Given the description of an element on the screen output the (x, y) to click on. 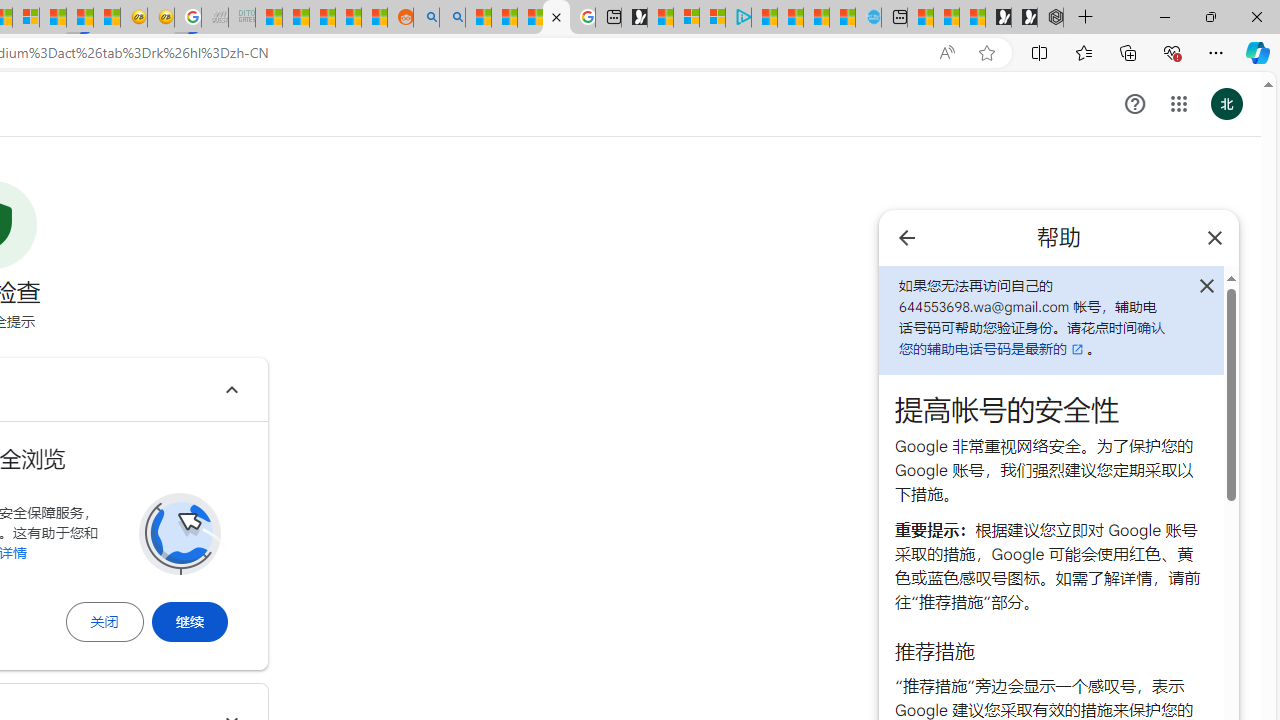
Class: gb_E (1178, 103)
Home | Sky Blue Bikes - Sky Blue Bikes (868, 17)
